Given the description of an element on the screen output the (x, y) to click on. 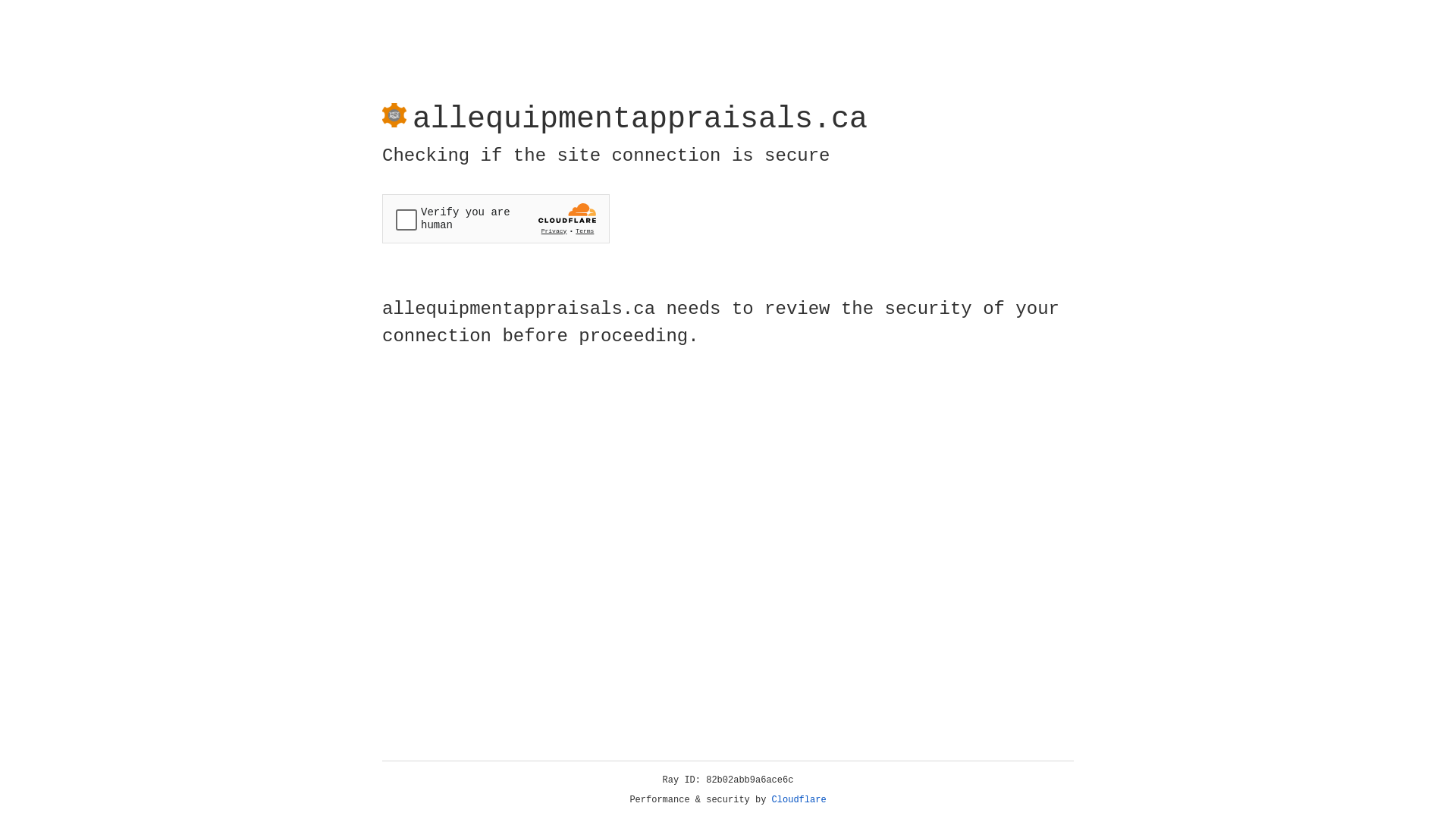
Widget containing a Cloudflare security challenge Element type: hover (495, 218)
Cloudflare Element type: text (798, 799)
